Given the description of an element on the screen output the (x, y) to click on. 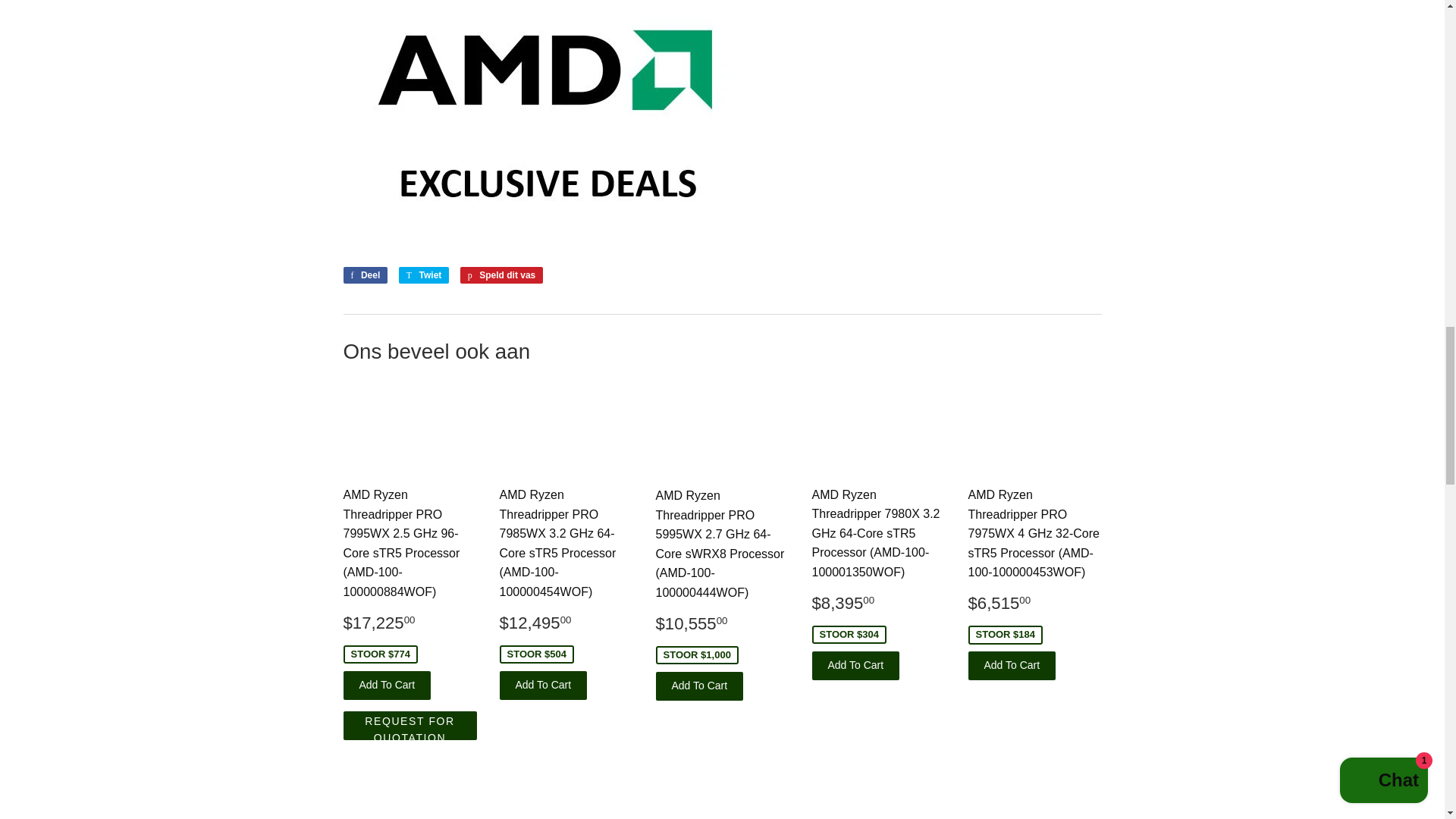
Tweet op Twitter (423, 274)
Speld op Pinterest (501, 274)
Deel op Facebook (364, 274)
